Given the description of an element on the screen output the (x, y) to click on. 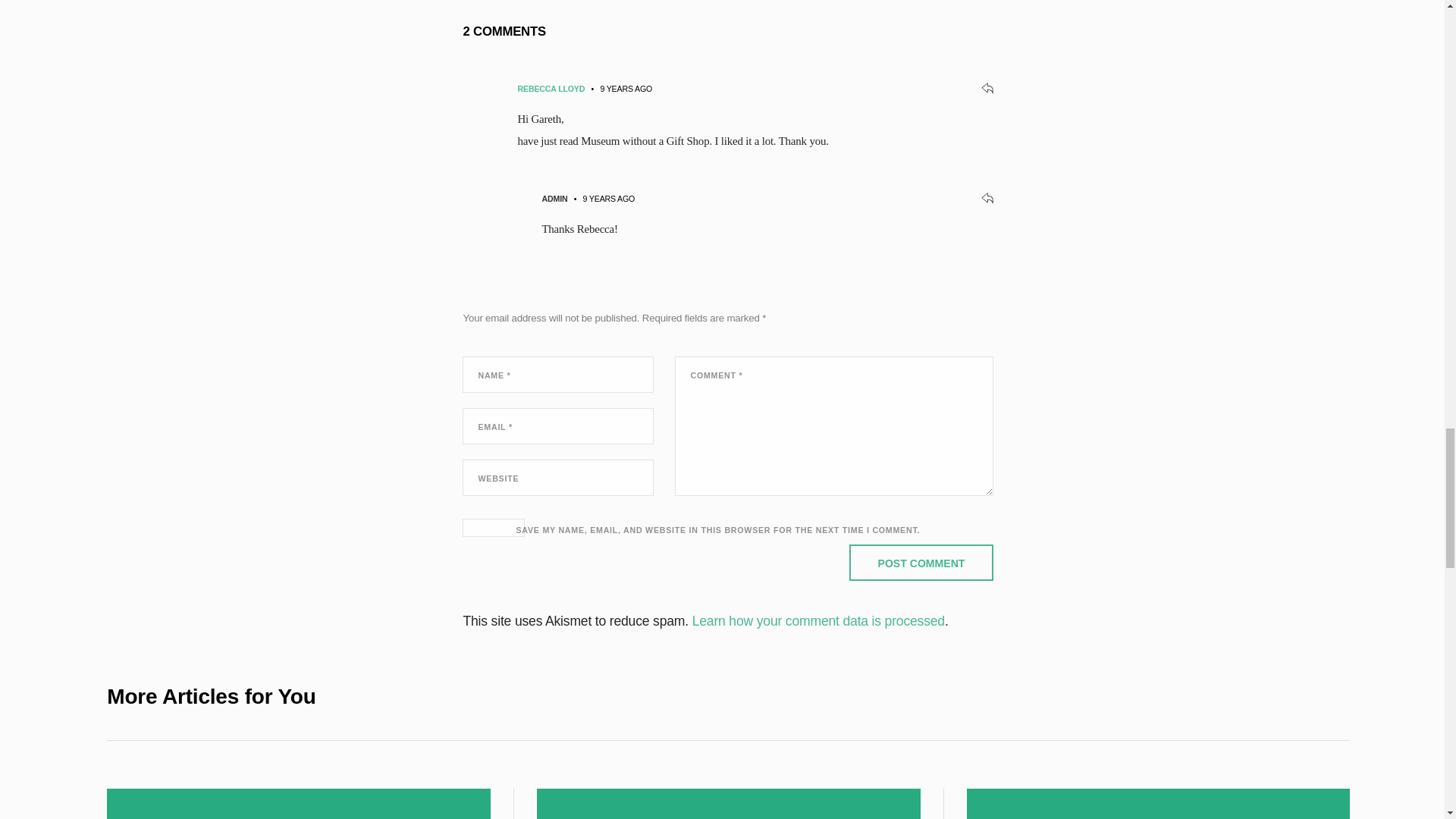
Friday, May 22, 2015, 7:28 am (608, 198)
yes (493, 527)
Post Comment (921, 562)
Saturday, May 9, 2015, 10:45 am (625, 88)
